Given the description of an element on the screen output the (x, y) to click on. 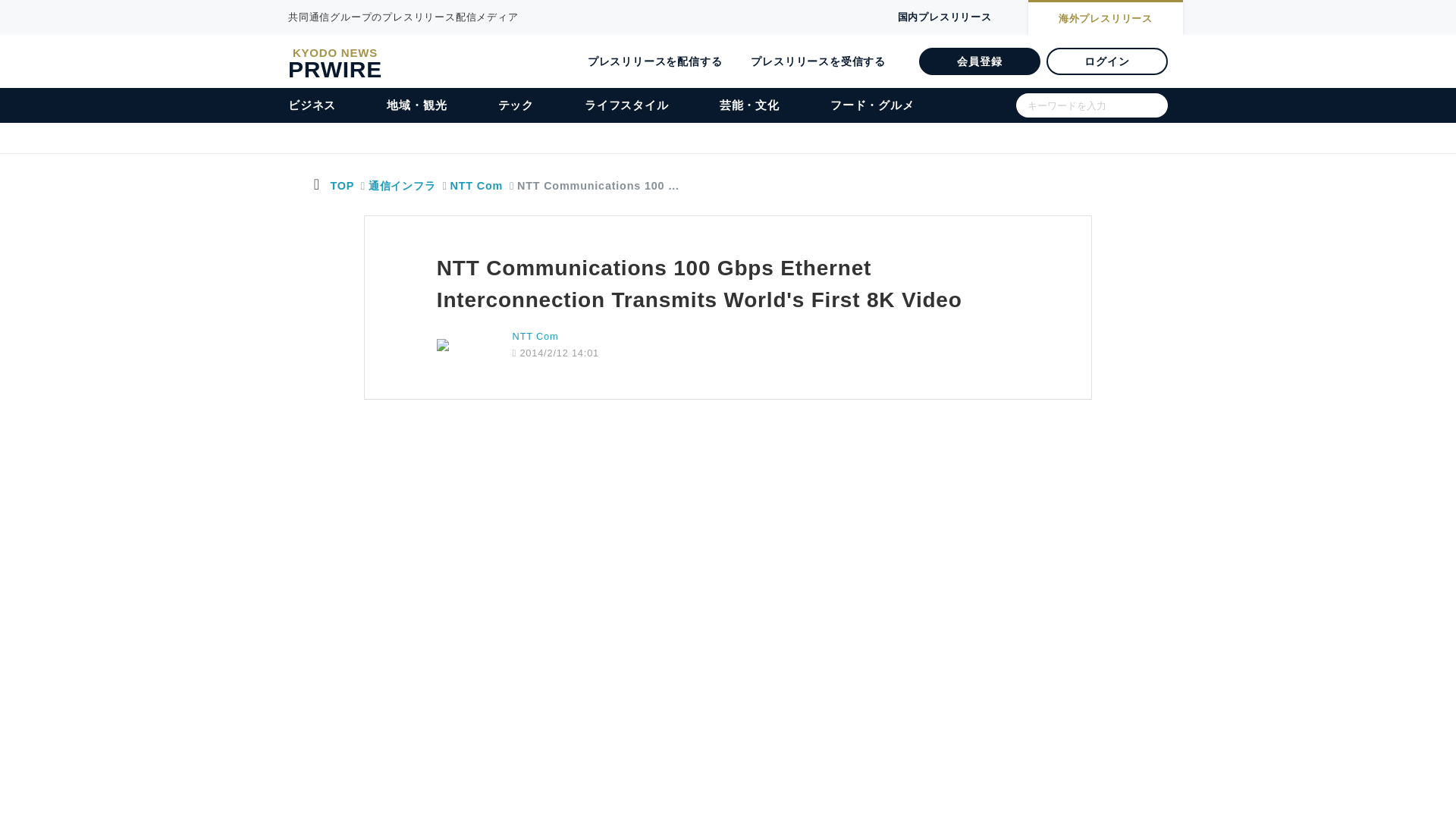
NTT Com (535, 336)
TOP (341, 185)
NTT Com (470, 185)
